Given the description of an element on the screen output the (x, y) to click on. 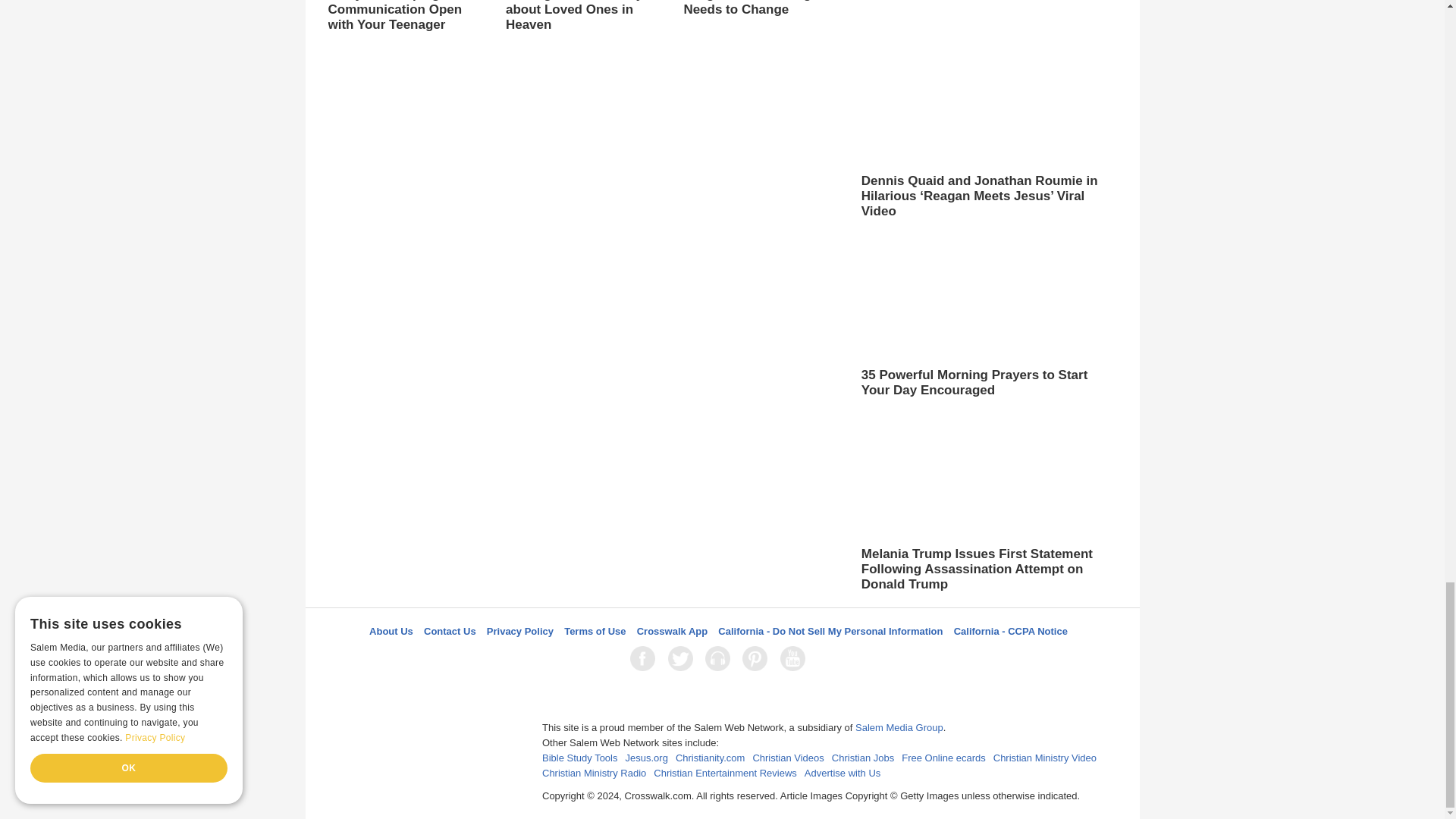
7 Things the Bible Says about Loved Ones in Heaven (583, 31)
6 Signs Your Marriage Needs to Change (760, 9)
3 Keys to Keeping Communication Open with Your Teenager (404, 16)
